Given the description of an element on the screen output the (x, y) to click on. 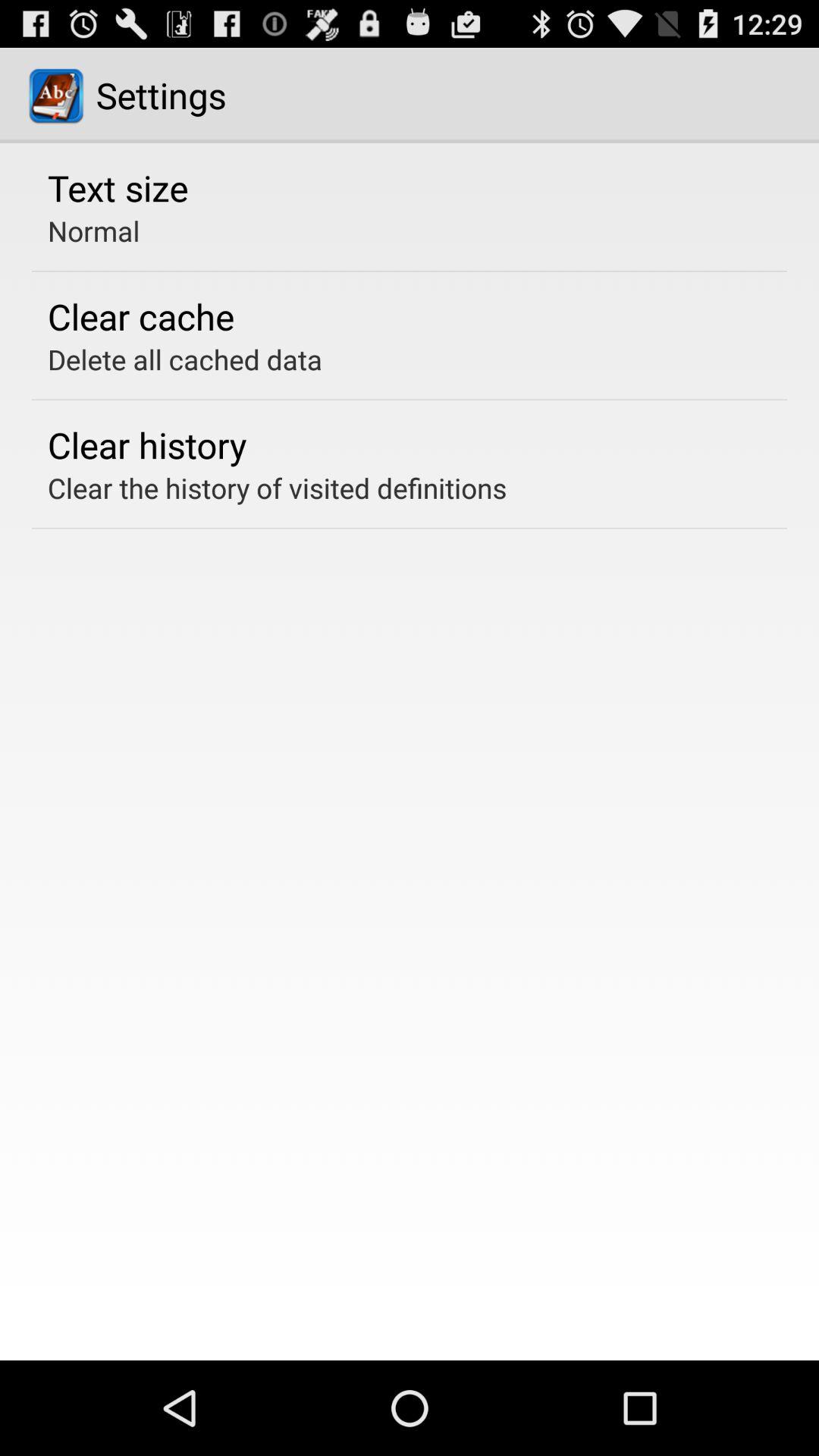
select the item below text size item (93, 230)
